Given the description of an element on the screen output the (x, y) to click on. 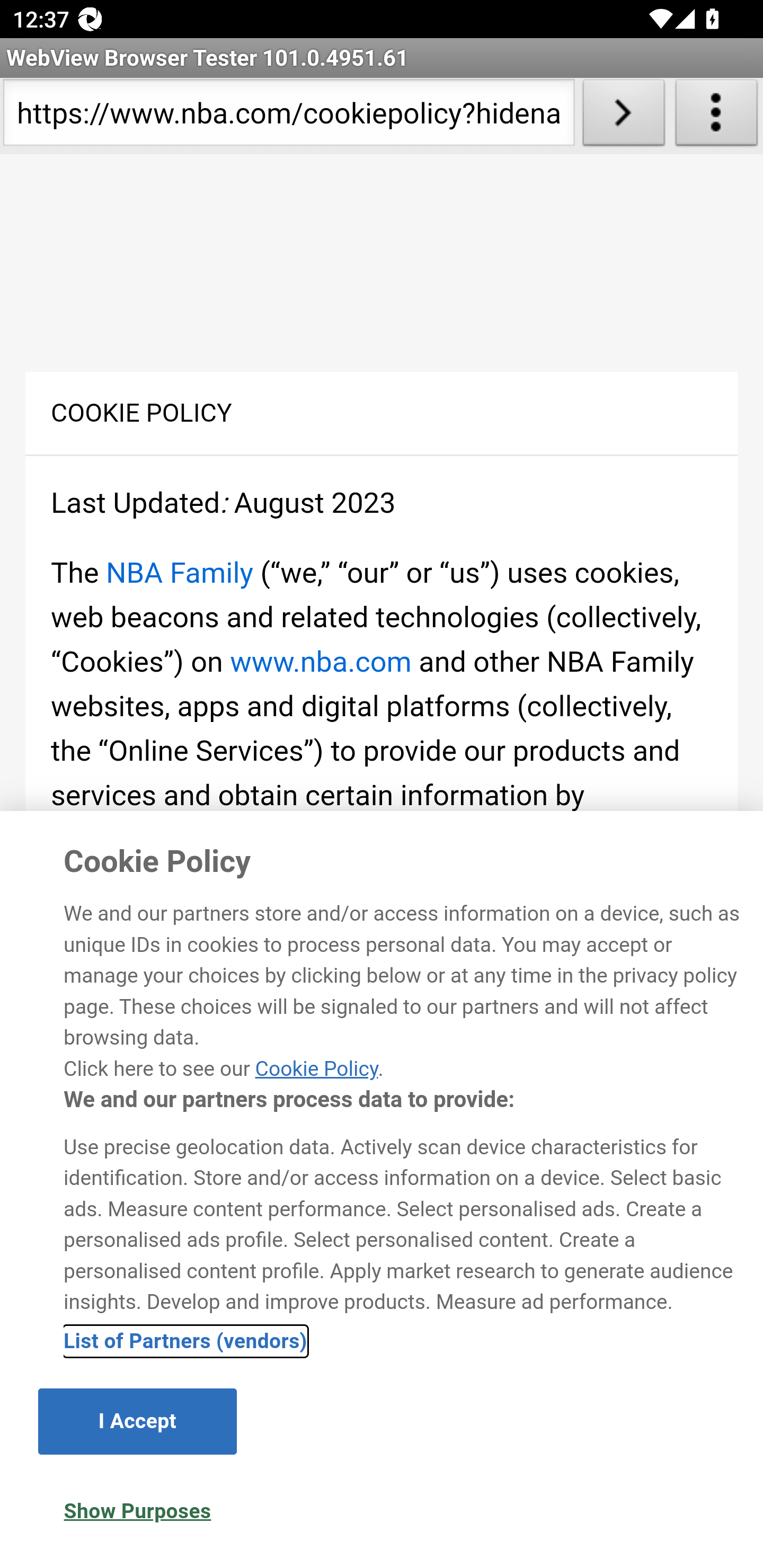
https://www.nba.com/cookiepolicy?hidenav=true (288, 115)
Load URL (623, 115)
About WebView (716, 115)
NBA Family (179, 573)
www.nba.com (320, 662)
Cookie Policy (316, 1068)
List of Partners (vendors) (185, 1340)
I Accept (137, 1421)
Show Purposes (137, 1511)
